Given the description of an element on the screen output the (x, y) to click on. 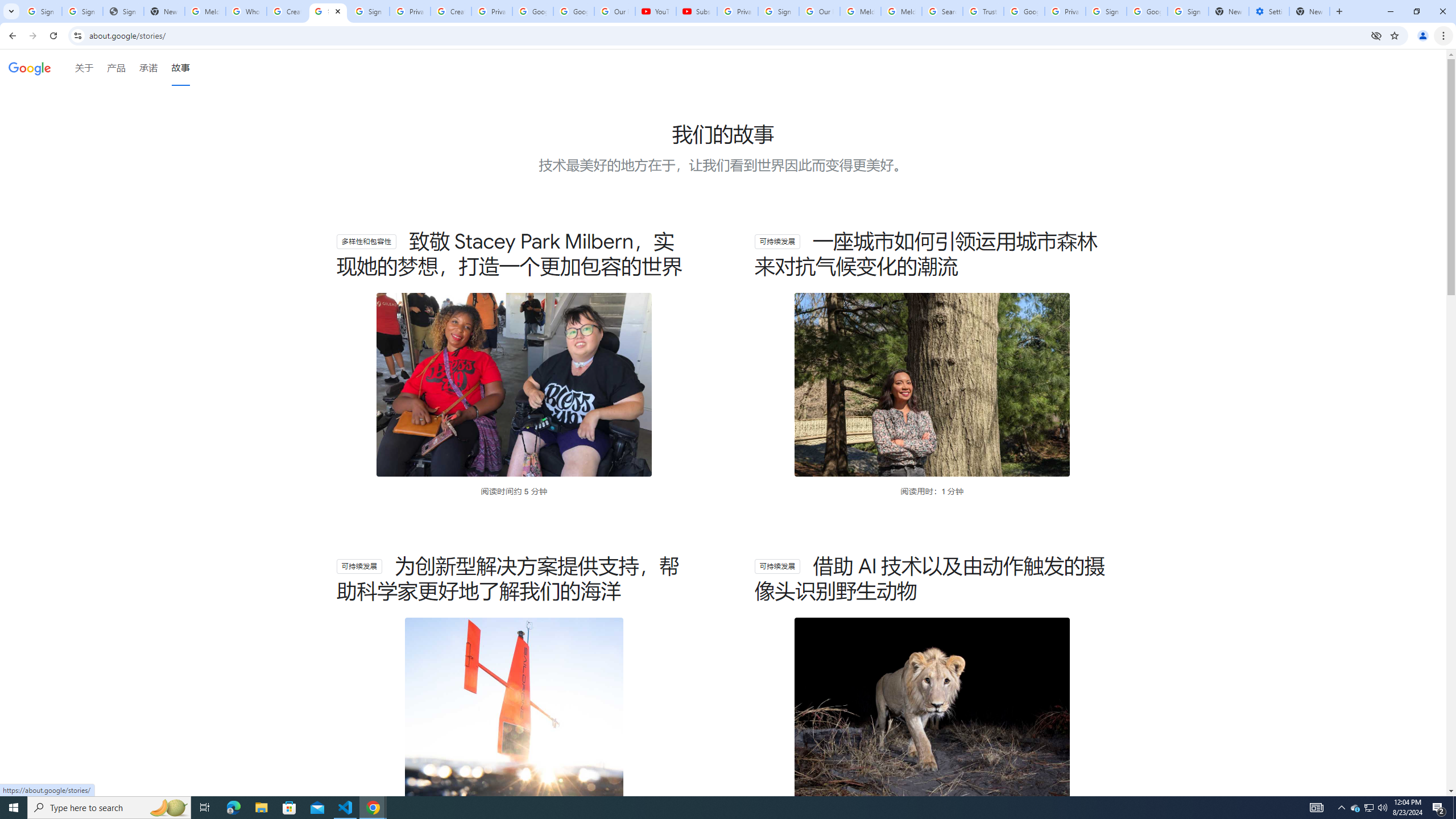
Sign in - Google Accounts (41, 11)
New Tab (1309, 11)
